Given the description of an element on the screen output the (x, y) to click on. 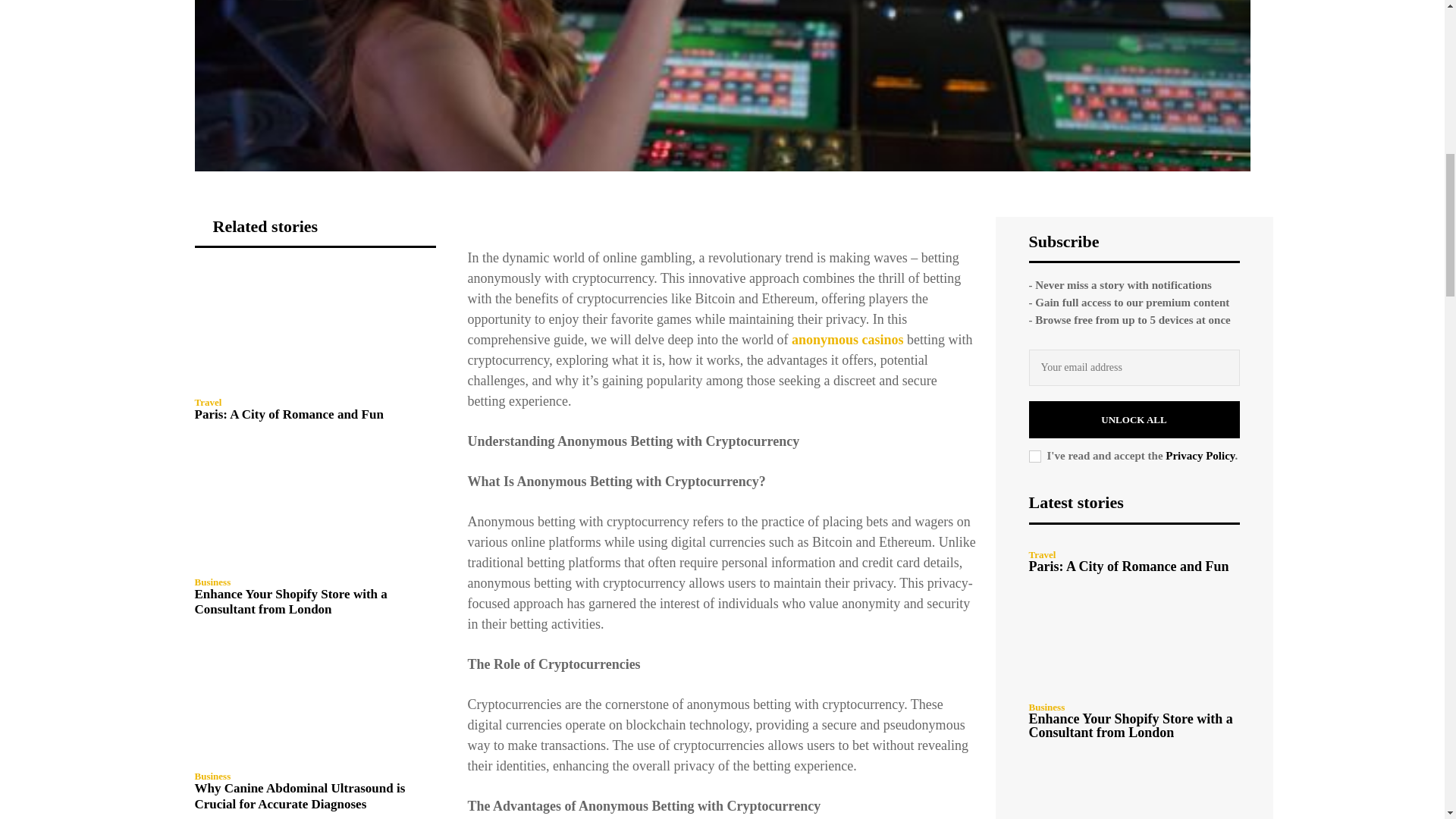
Paris: A City of Romance and Fun (287, 414)
Paris: A City of Romance and Fun (314, 326)
Enhance Your Shopify Store with a Consultant from London (314, 506)
